Given the description of an element on the screen output the (x, y) to click on. 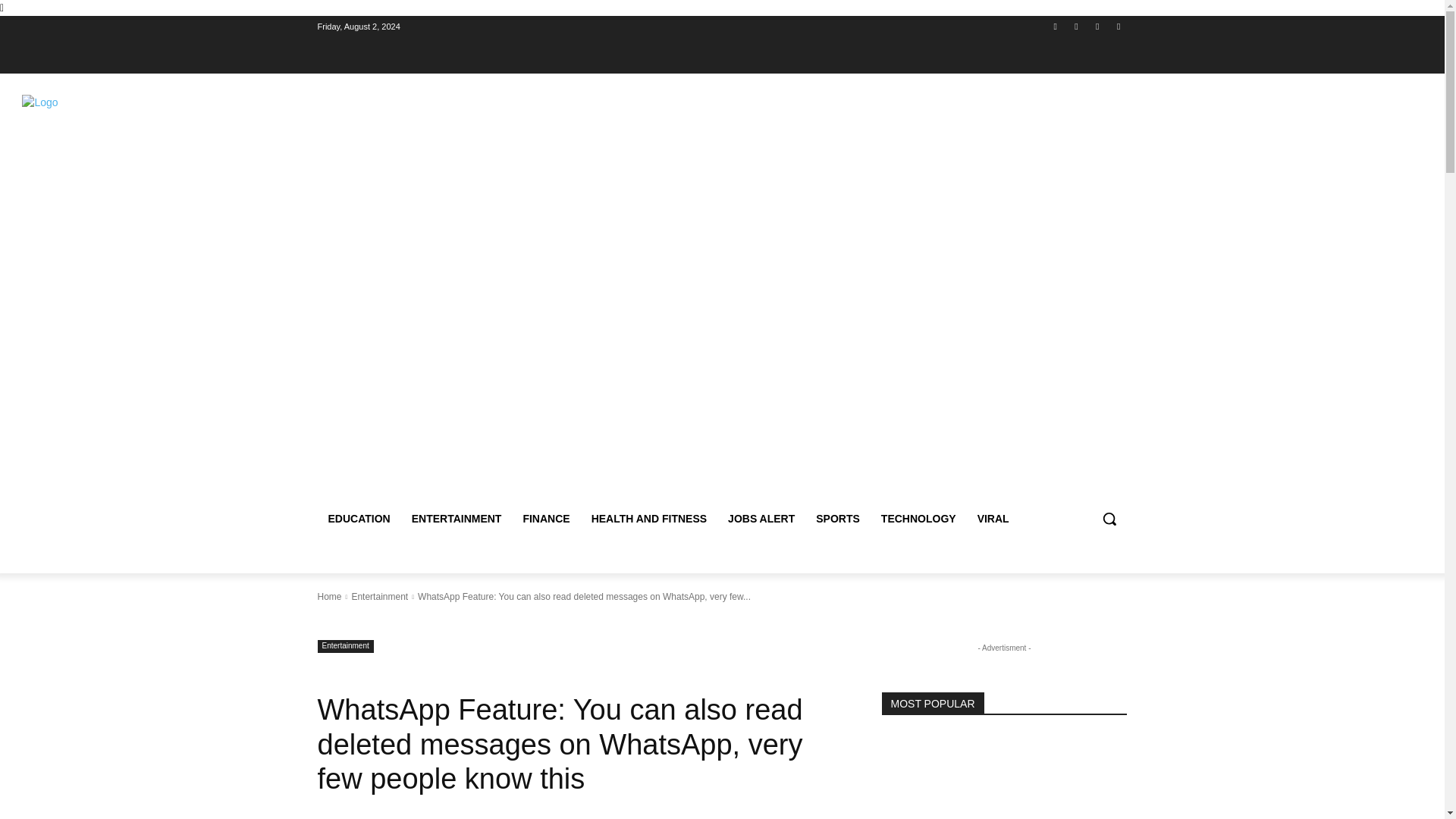
ENTERTAINMENT (456, 518)
Youtube (1117, 27)
HEALTH AND FITNESS (648, 518)
TECHNOLOGY (918, 518)
Entertainment (344, 645)
View all posts in Entertainment (378, 596)
SPORTS (837, 518)
Home (328, 596)
Twitter (1097, 27)
EDUCATION (358, 518)
Facebook (1055, 27)
JOBS ALERT (761, 518)
VIRAL (993, 518)
Instagram (1075, 27)
FINANCE (545, 518)
